Given the description of an element on the screen output the (x, y) to click on. 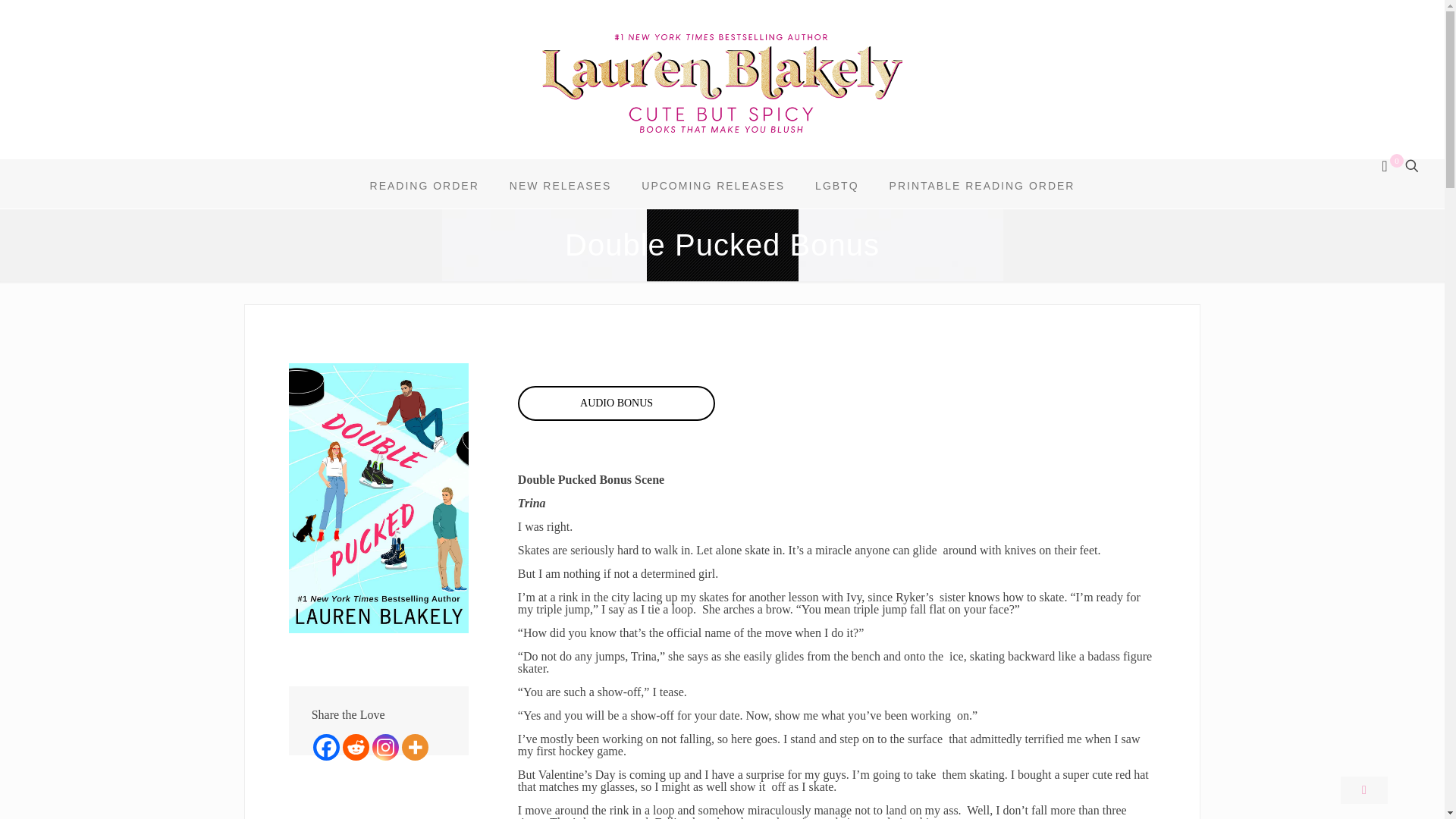
AUDIO BONUS (616, 402)
NEW RELEASES (560, 185)
Instagram (385, 746)
UPCOMING RELEASES (712, 185)
0 (1390, 166)
PRINTABLE READING ORDER (982, 185)
Reddit (355, 746)
More (414, 746)
Lauren Blakely (721, 83)
LGBTQ (836, 185)
Facebook (326, 746)
READING ORDER (425, 185)
